Given the description of an element on the screen output the (x, y) to click on. 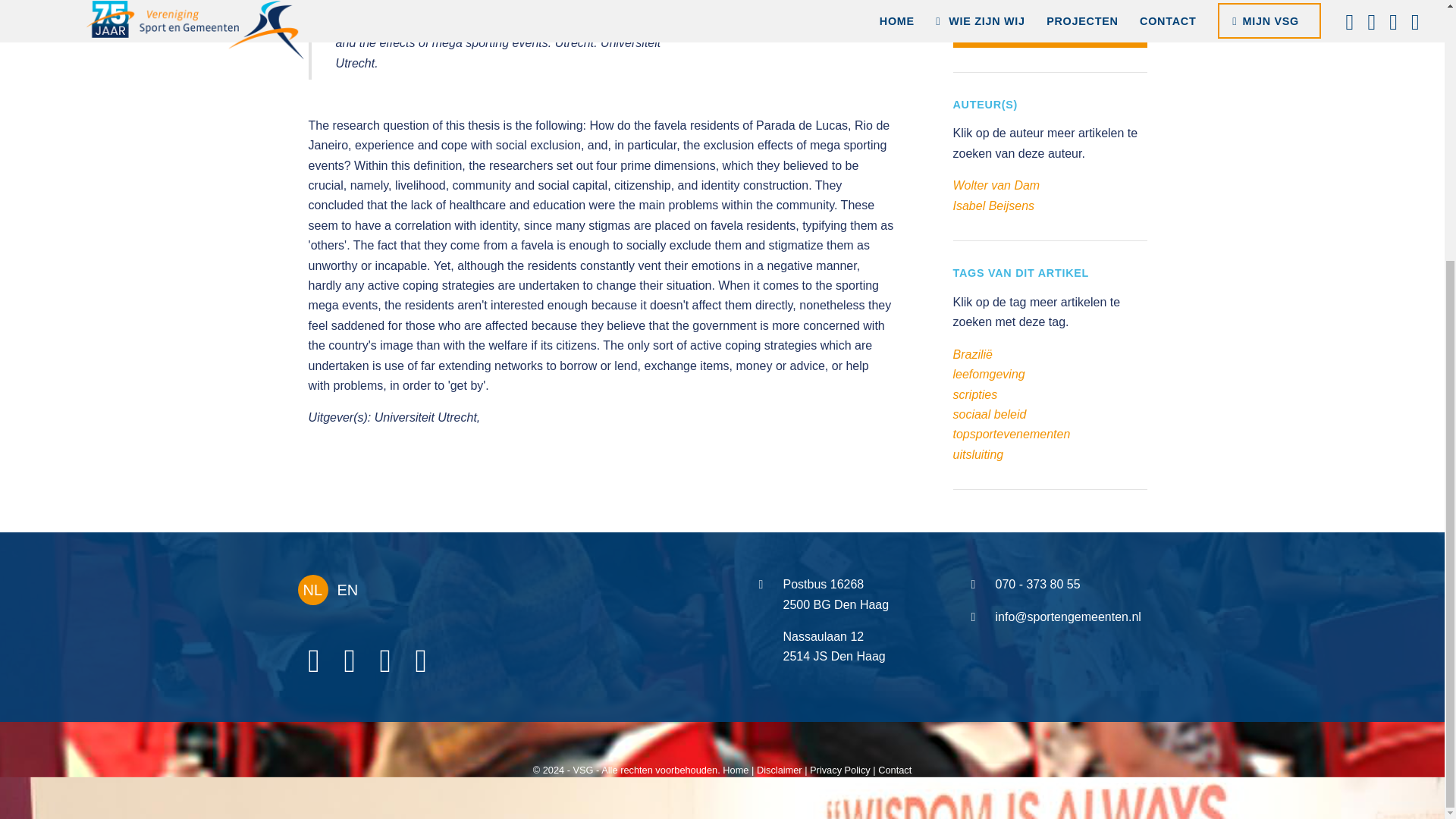
Privacy Policy (839, 769)
uitsluiting (977, 454)
Isabel Beijsens (992, 205)
DOWNLOAD PDF (1049, 34)
scripties (974, 394)
Disclaimer (779, 769)
070 - 373 80 55 (1037, 584)
EN (346, 589)
LinkedIn (351, 660)
YouTube (386, 660)
